Given the description of an element on the screen output the (x, y) to click on. 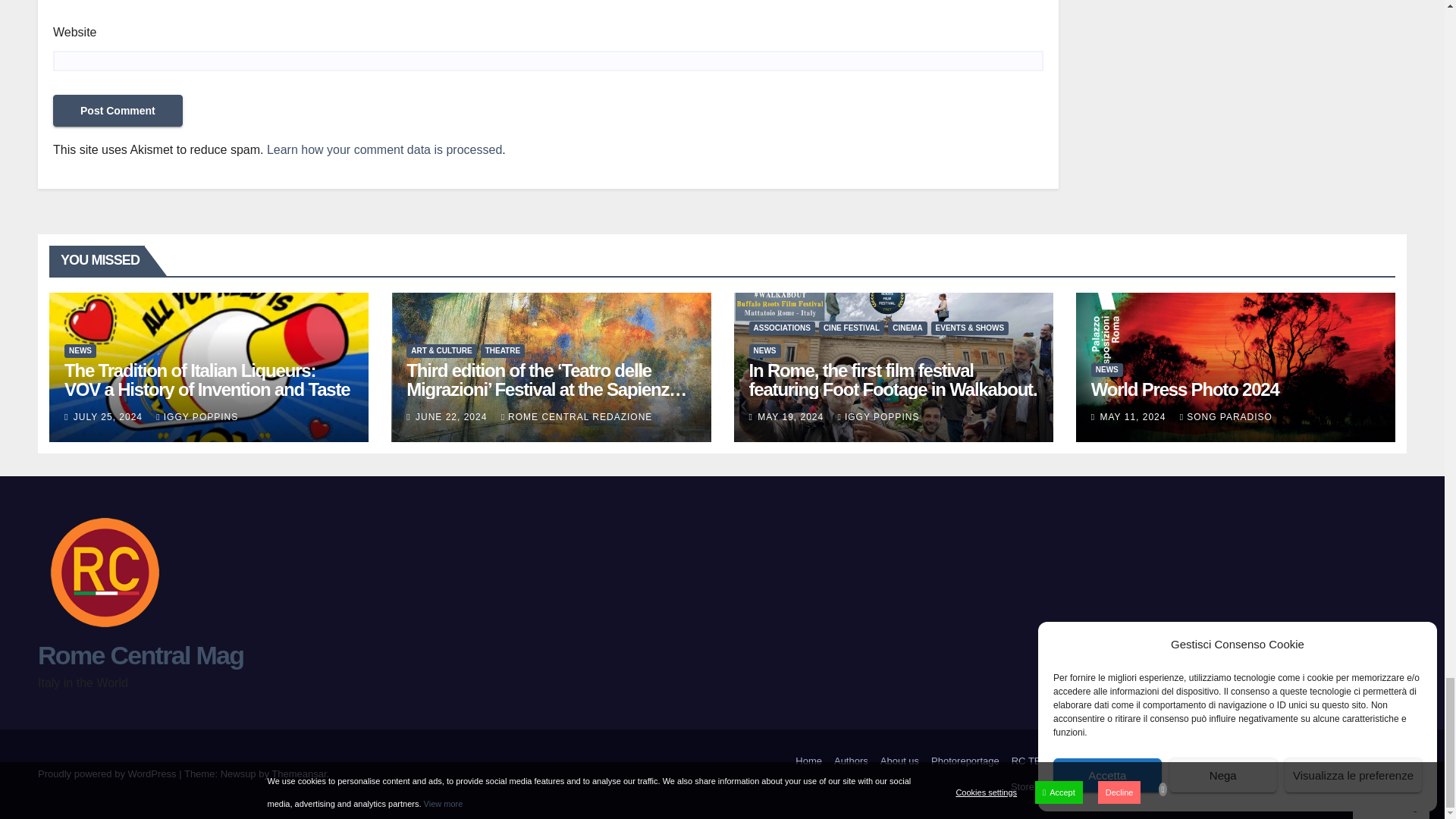
Post Comment (117, 110)
